Given the description of an element on the screen output the (x, y) to click on. 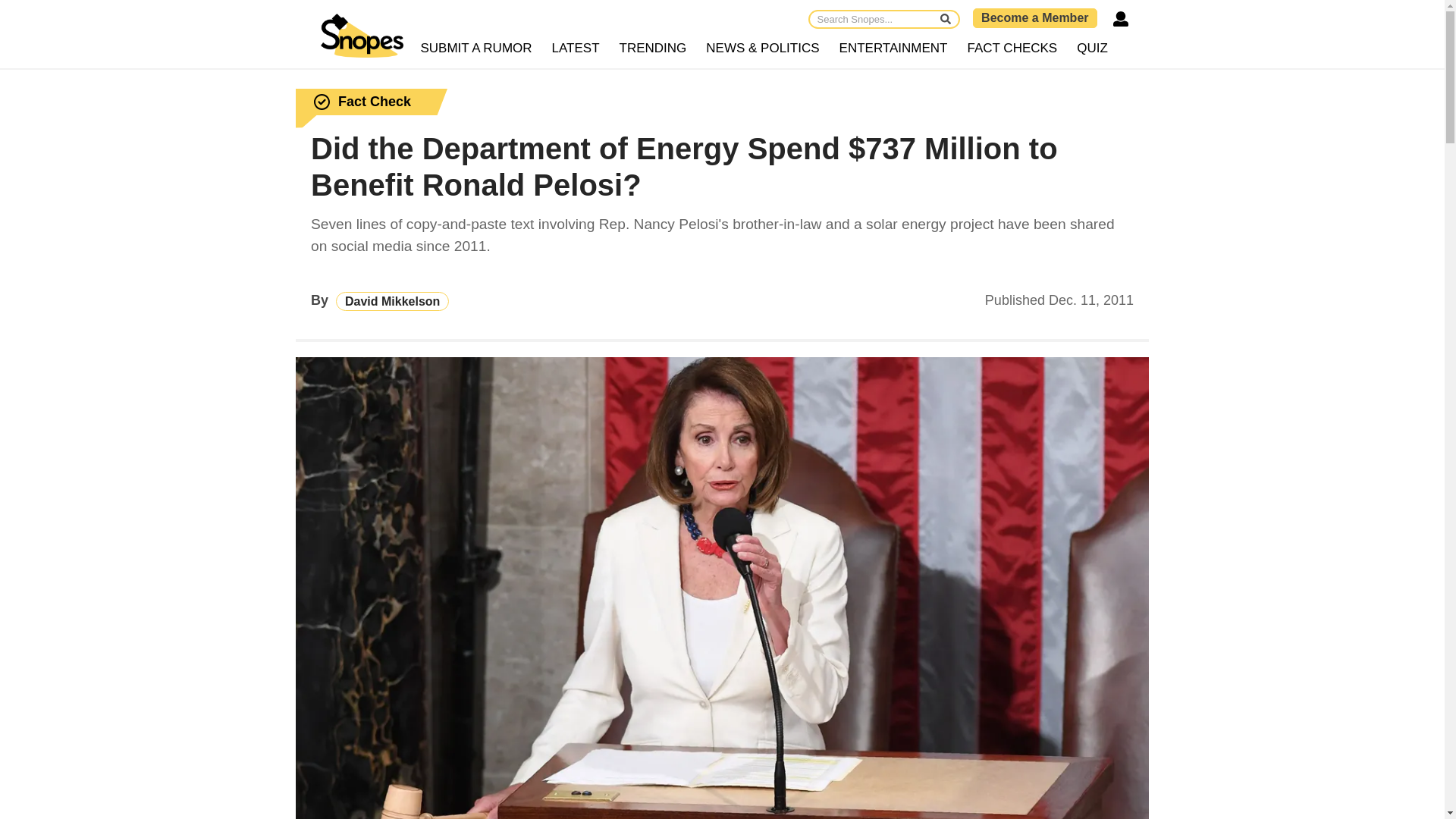
FACT CHECKS (1011, 47)
QUIZ (1092, 47)
SUBMIT A RUMOR (475, 47)
ENTERTAINMENT (893, 47)
David Mikkelson (392, 301)
TRENDING (653, 47)
Become a Member (1034, 17)
LATEST (576, 47)
